Given the description of an element on the screen output the (x, y) to click on. 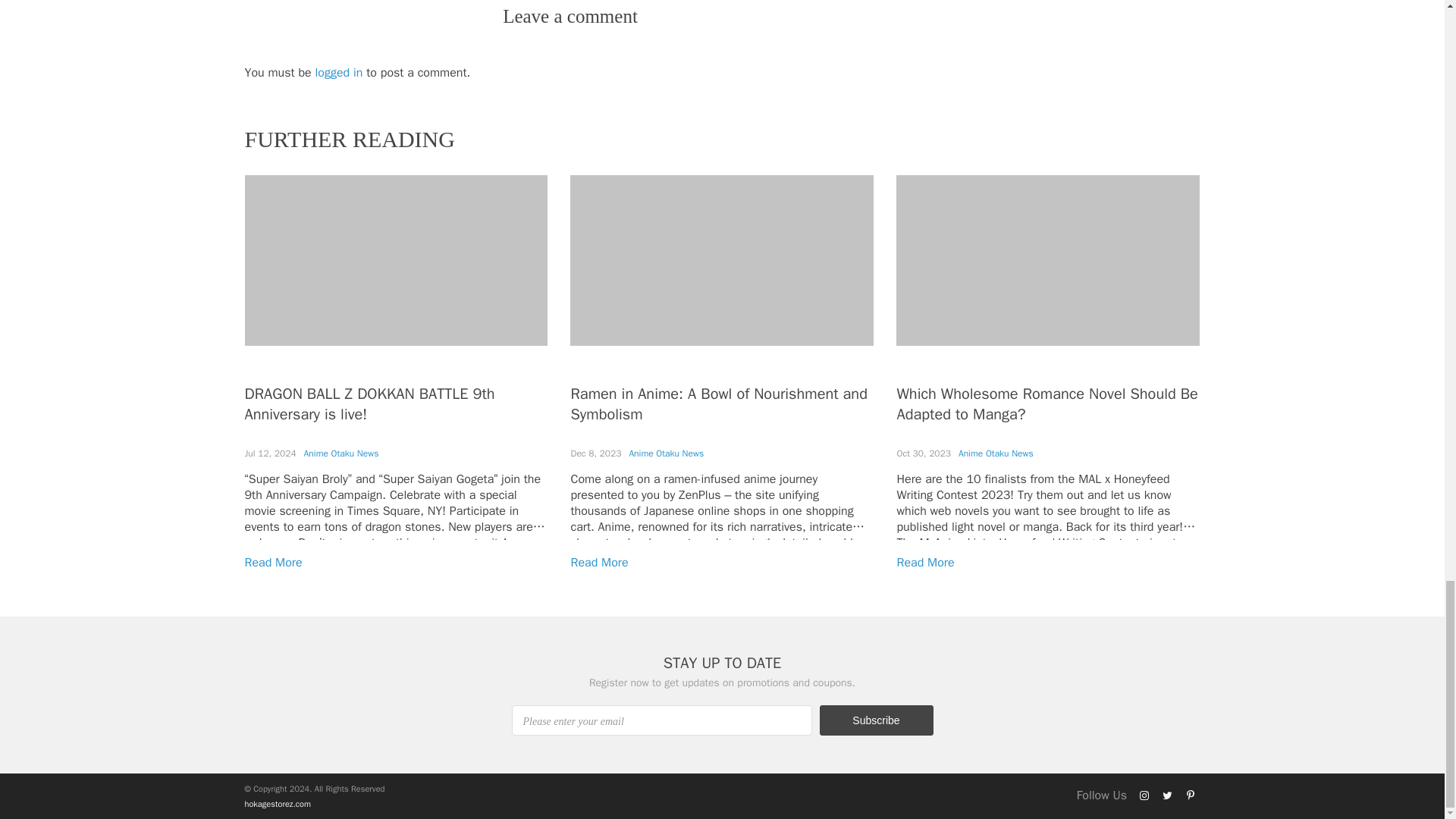
Ramen in Anime: A Bowl of Nourishment and Symbolism (718, 404)
Anime Otaku News (341, 453)
Read More (272, 562)
Which Wholesome Romance Novel Should Be Adapted to Manga? (1046, 404)
Read More (924, 562)
logged in (338, 72)
Anime Otaku News (665, 453)
Read More (598, 562)
Anime Otaku News (995, 453)
